Given the description of an element on the screen output the (x, y) to click on. 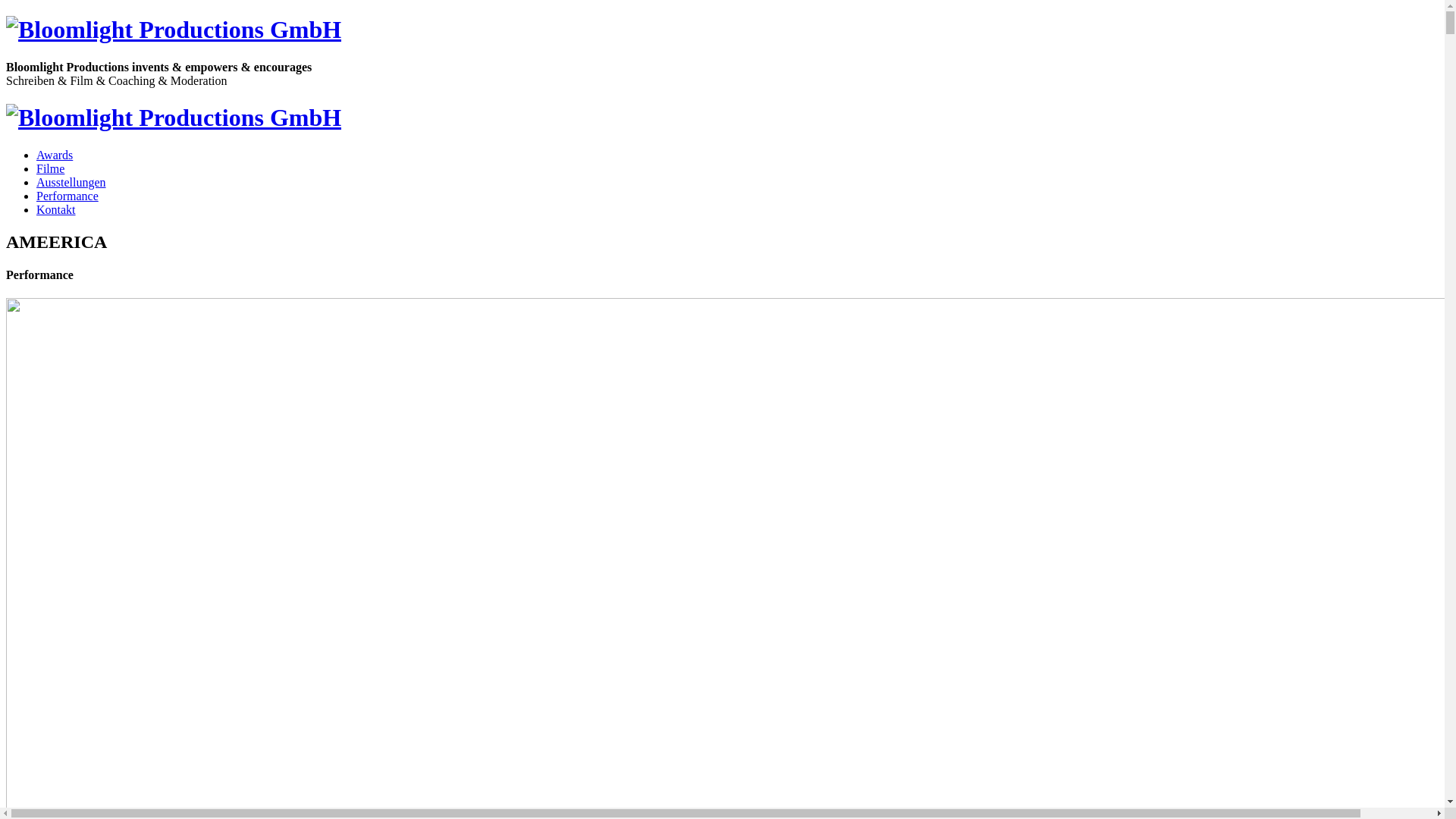
Filme Element type: text (50, 168)
Ausstellungen Element type: text (71, 181)
Kontakt Element type: text (55, 209)
Performance Element type: text (67, 195)
Awards Element type: text (54, 154)
